Given the description of an element on the screen output the (x, y) to click on. 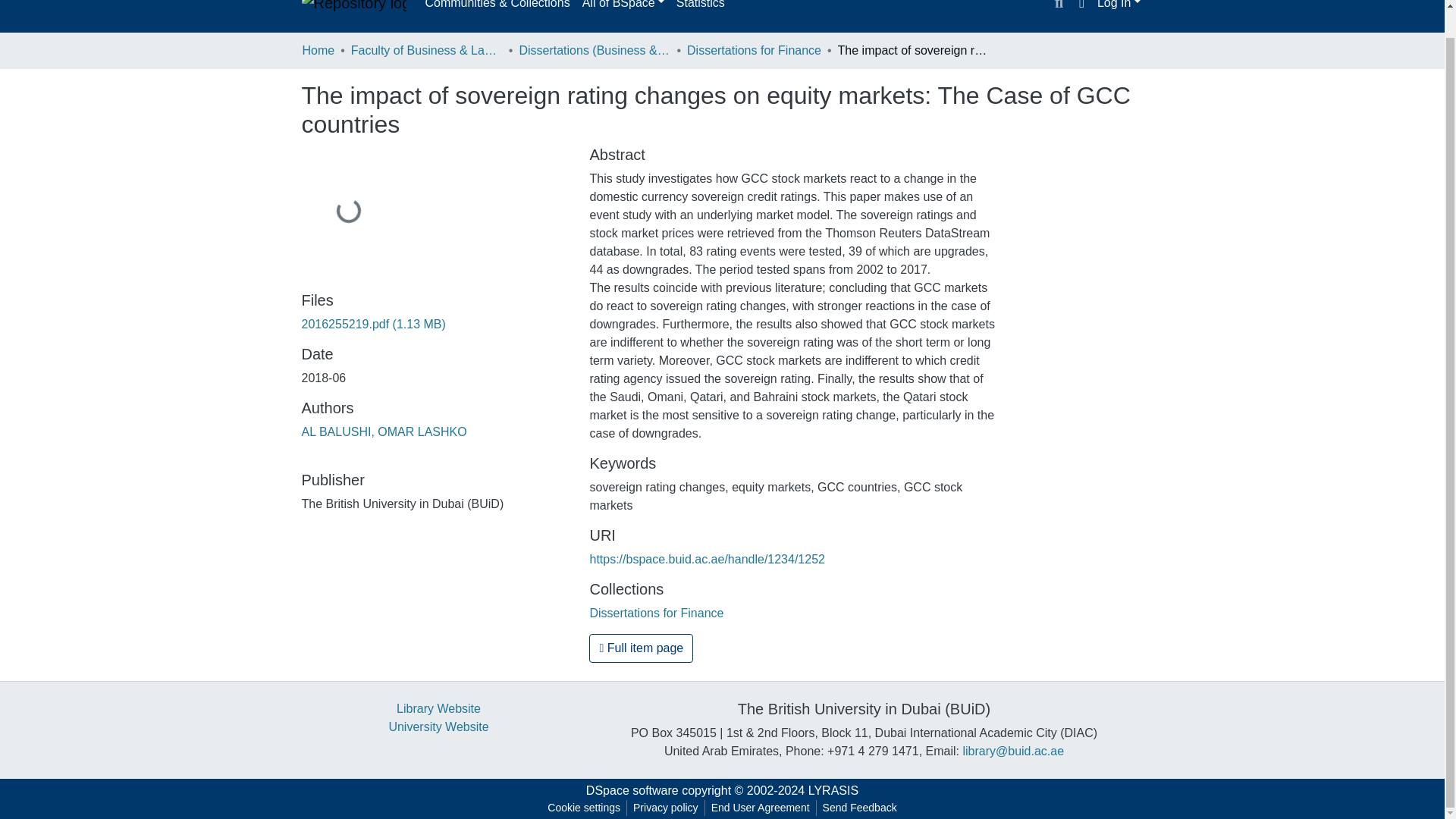
Send Feedback (859, 807)
Dissertations for Finance (656, 612)
Language switch (1081, 5)
University Website (437, 726)
Dissertations for Finance (754, 50)
AL BALUSHI, OMAR LASHKO (384, 431)
DSpace software (632, 789)
Cookie settings (583, 807)
Log In (1118, 4)
Home (317, 50)
